Given the description of an element on the screen output the (x, y) to click on. 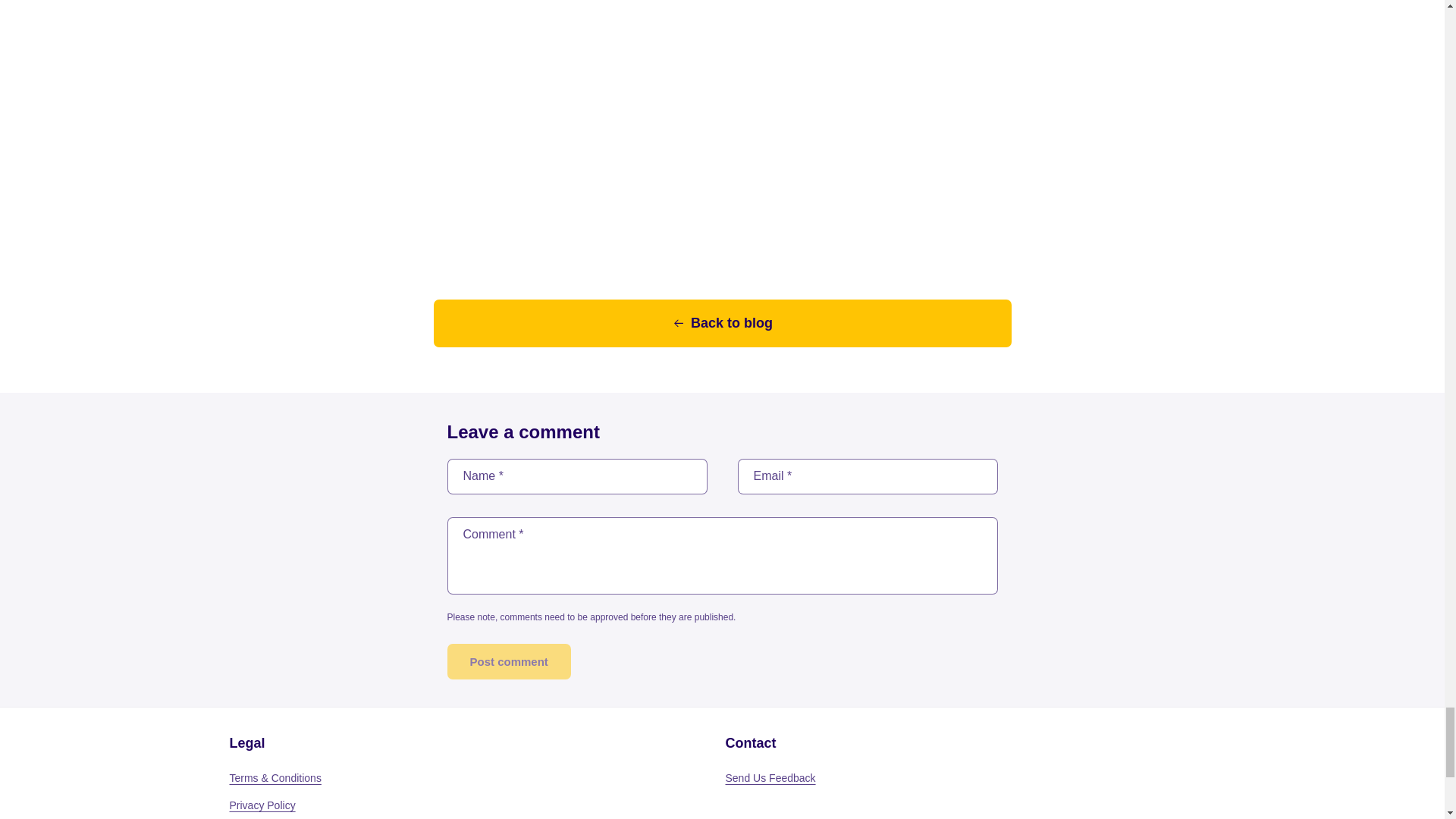
Post comment (508, 661)
